Given the description of an element on the screen output the (x, y) to click on. 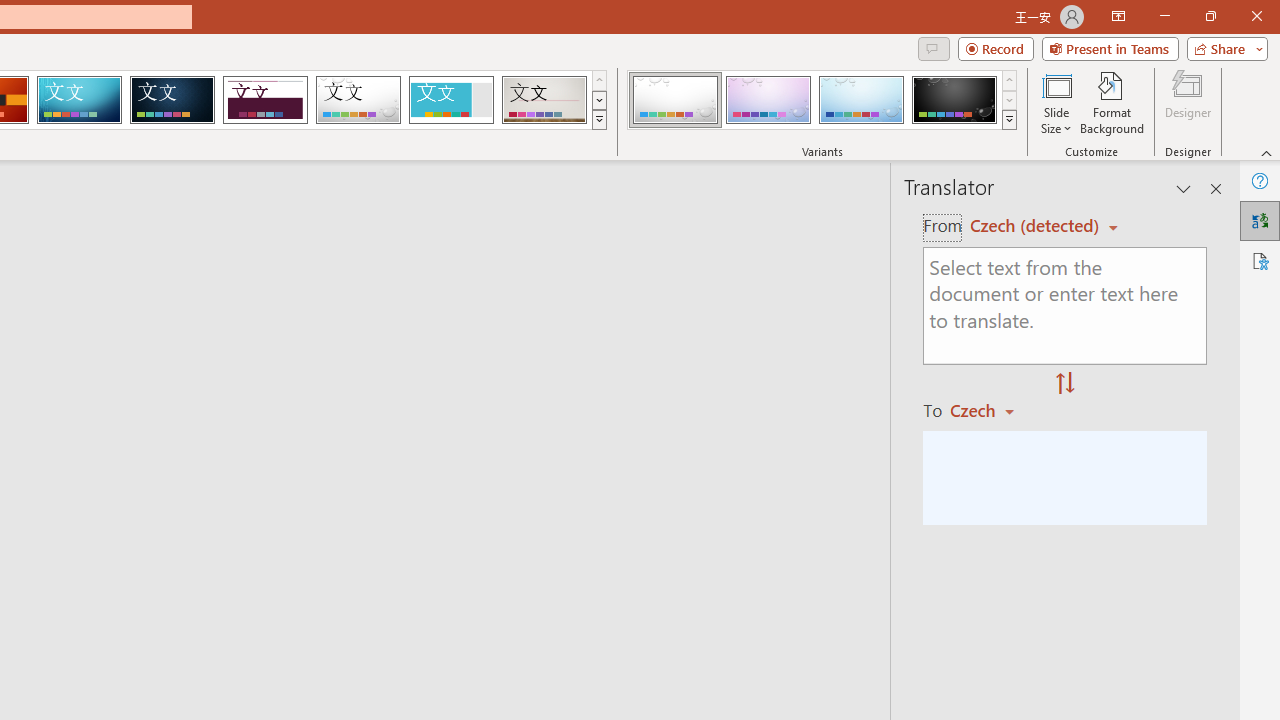
Circuit (79, 100)
Droplet Variant 4 (953, 100)
Droplet Variant 1 (674, 100)
Droplet Variant 3 (861, 100)
